Given the description of an element on the screen output the (x, y) to click on. 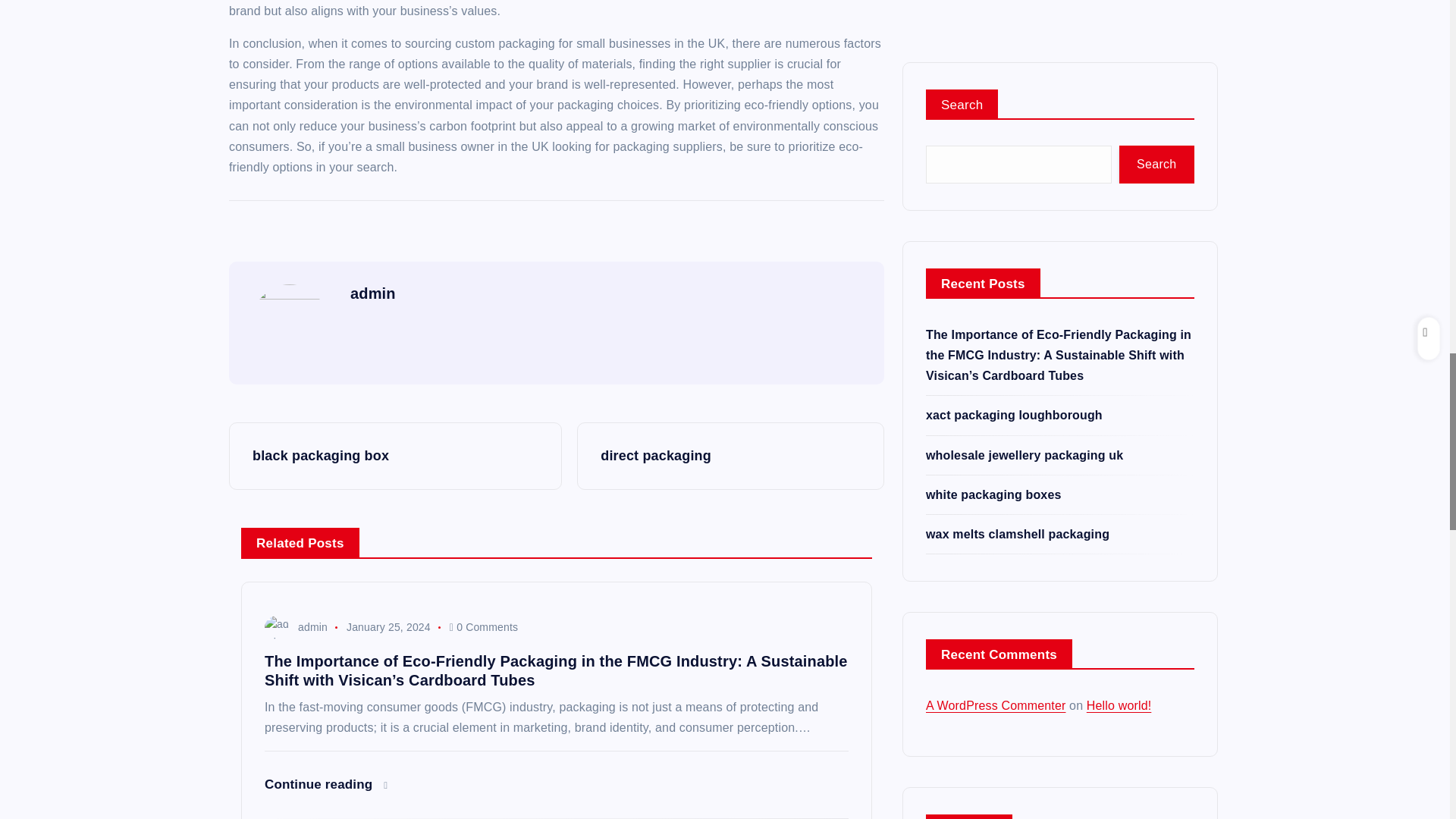
admin (295, 626)
black packaging box (395, 455)
Continue reading (325, 784)
admin (373, 293)
direct packaging (729, 455)
